Given the description of an element on the screen output the (x, y) to click on. 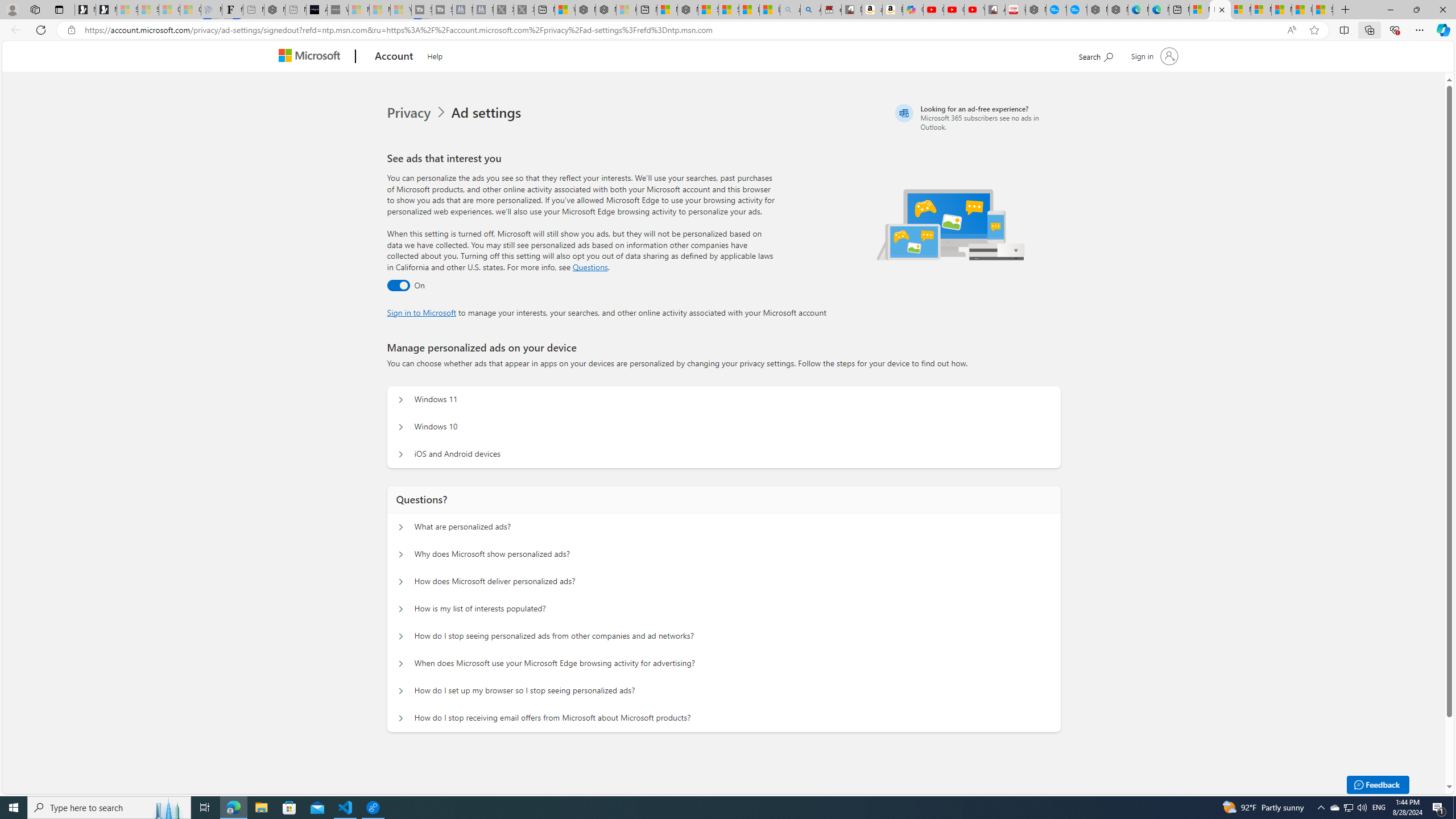
amazon - Search - Sleeping (789, 9)
Ad settings (488, 112)
Help (434, 54)
Privacy (418, 112)
Copilot (913, 9)
